Given the description of an element on the screen output the (x, y) to click on. 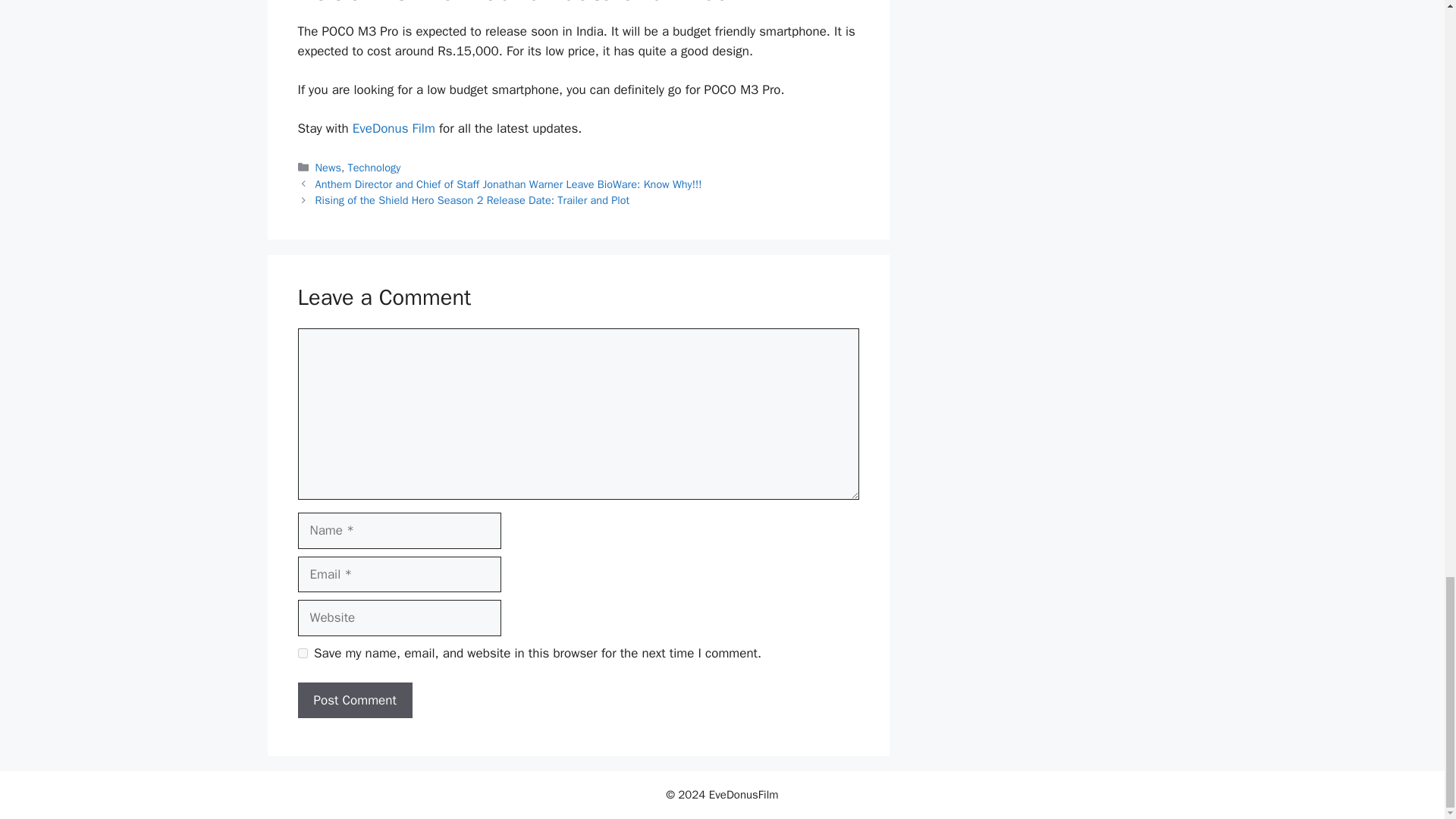
yes (302, 653)
Technology (374, 167)
News (327, 167)
EveDonus Film (393, 128)
Post Comment (354, 700)
Post Comment (354, 700)
